Given the description of an element on the screen output the (x, y) to click on. 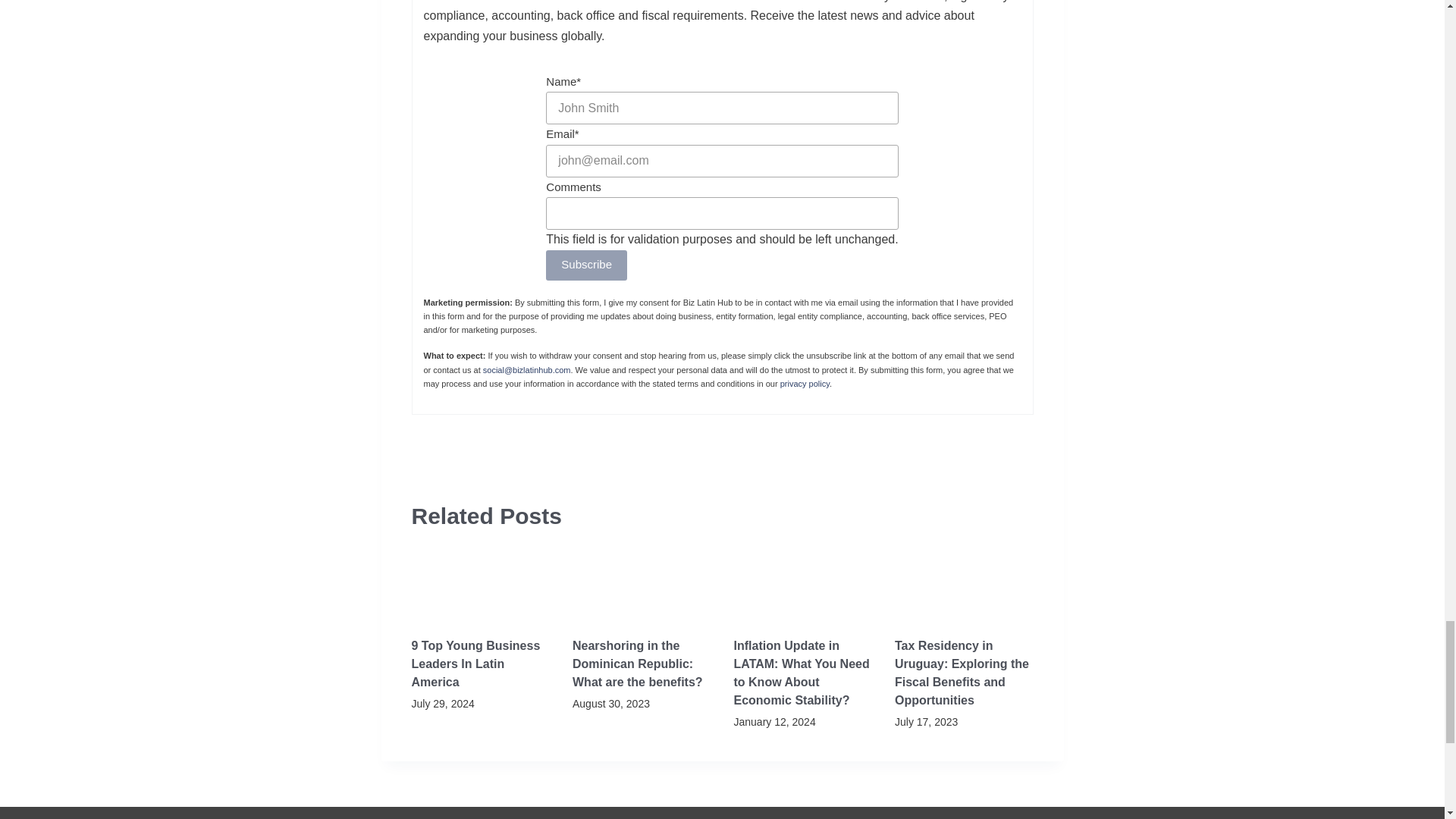
Subscribe (586, 265)
